Given the description of an element on the screen output the (x, y) to click on. 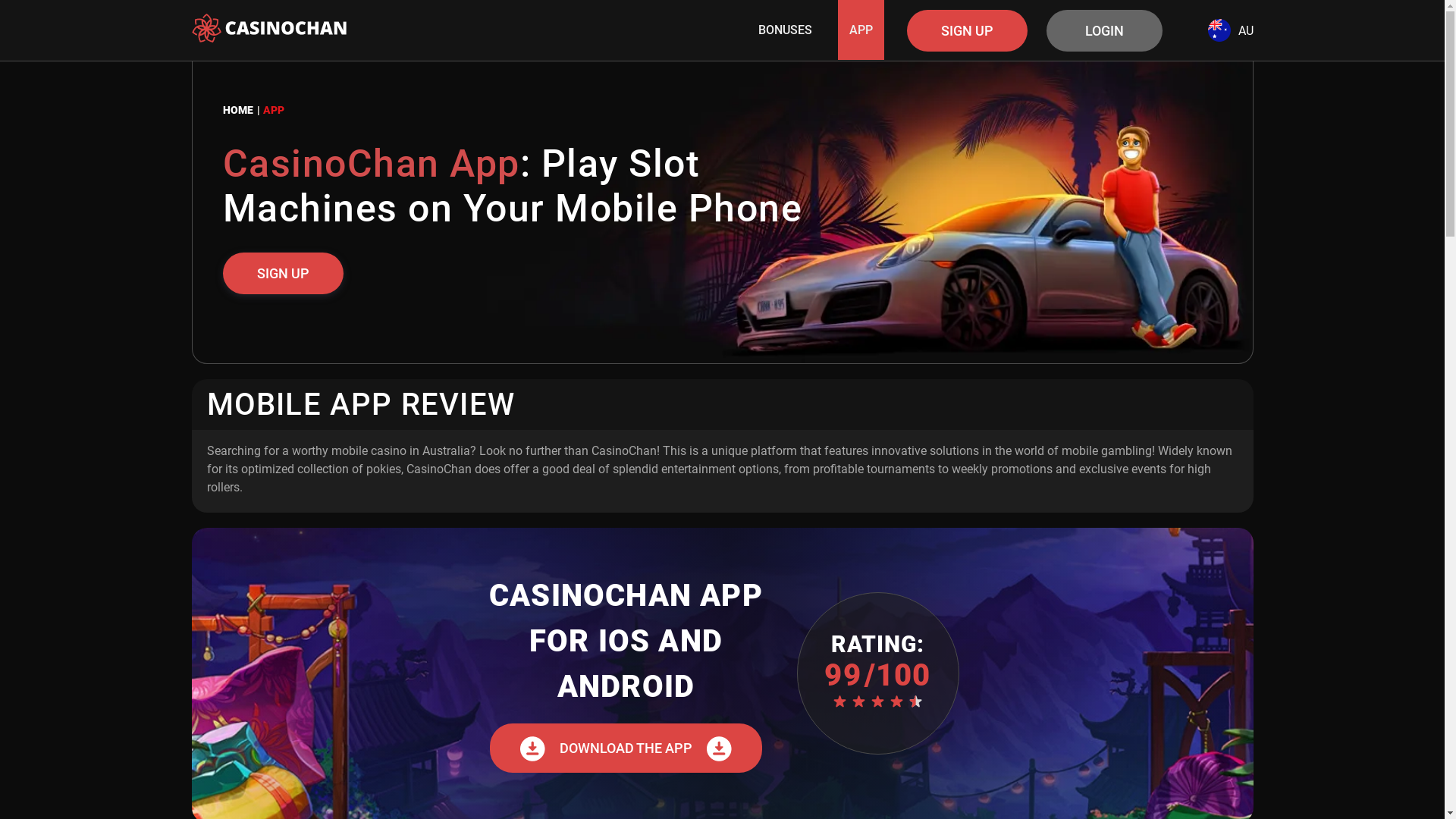
LOGIN Element type: text (1104, 29)
BONUSES Element type: text (785, 29)
SIGN UP Element type: text (282, 273)
HOME Element type: text (242, 109)
DOWNLOAD THE APP Element type: text (625, 747)
APP Element type: text (860, 29)
SIGN UP Element type: text (966, 29)
